Given the description of an element on the screen output the (x, y) to click on. 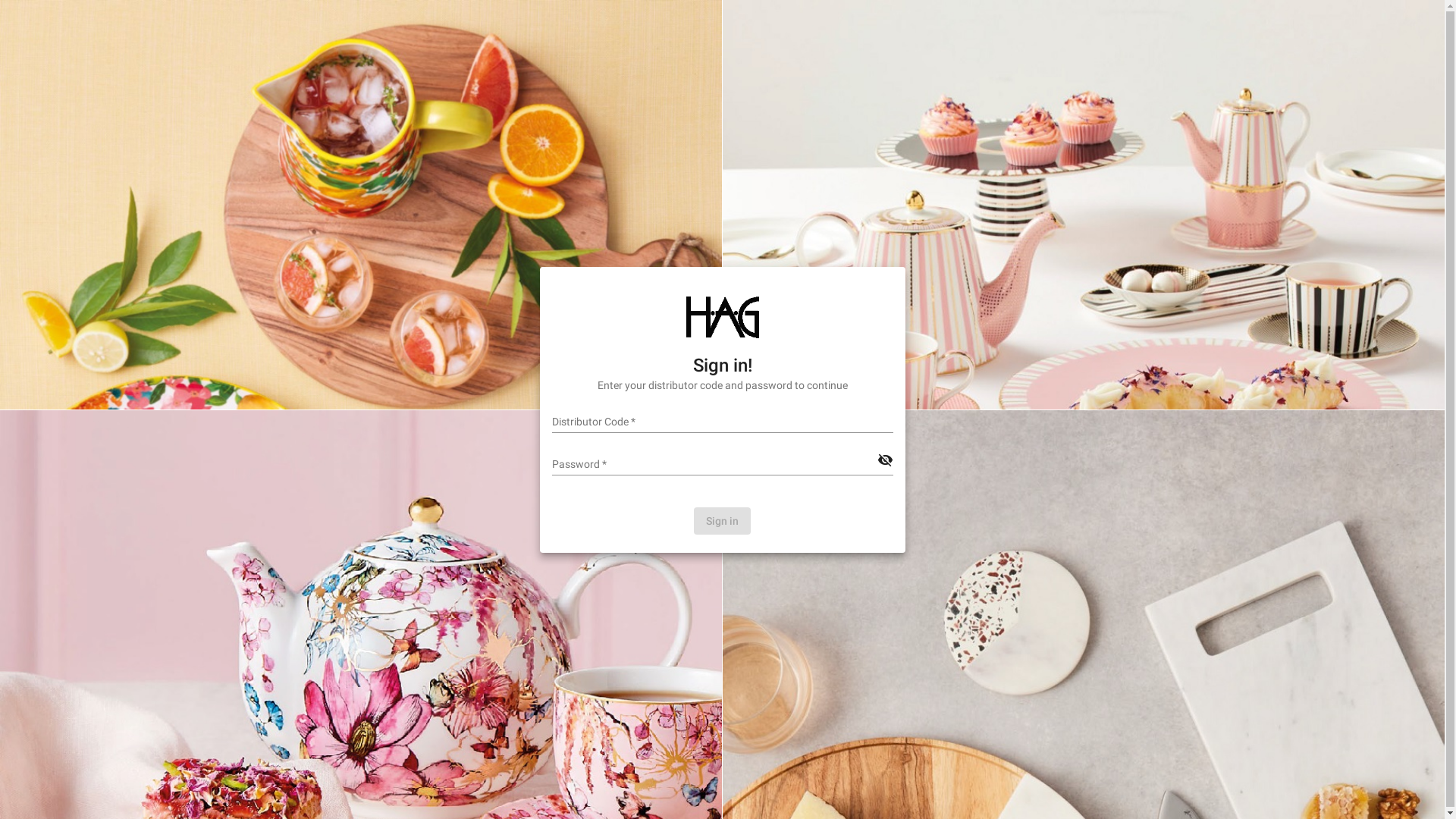
Sign in Element type: text (721, 519)
